Given the description of an element on the screen output the (x, y) to click on. 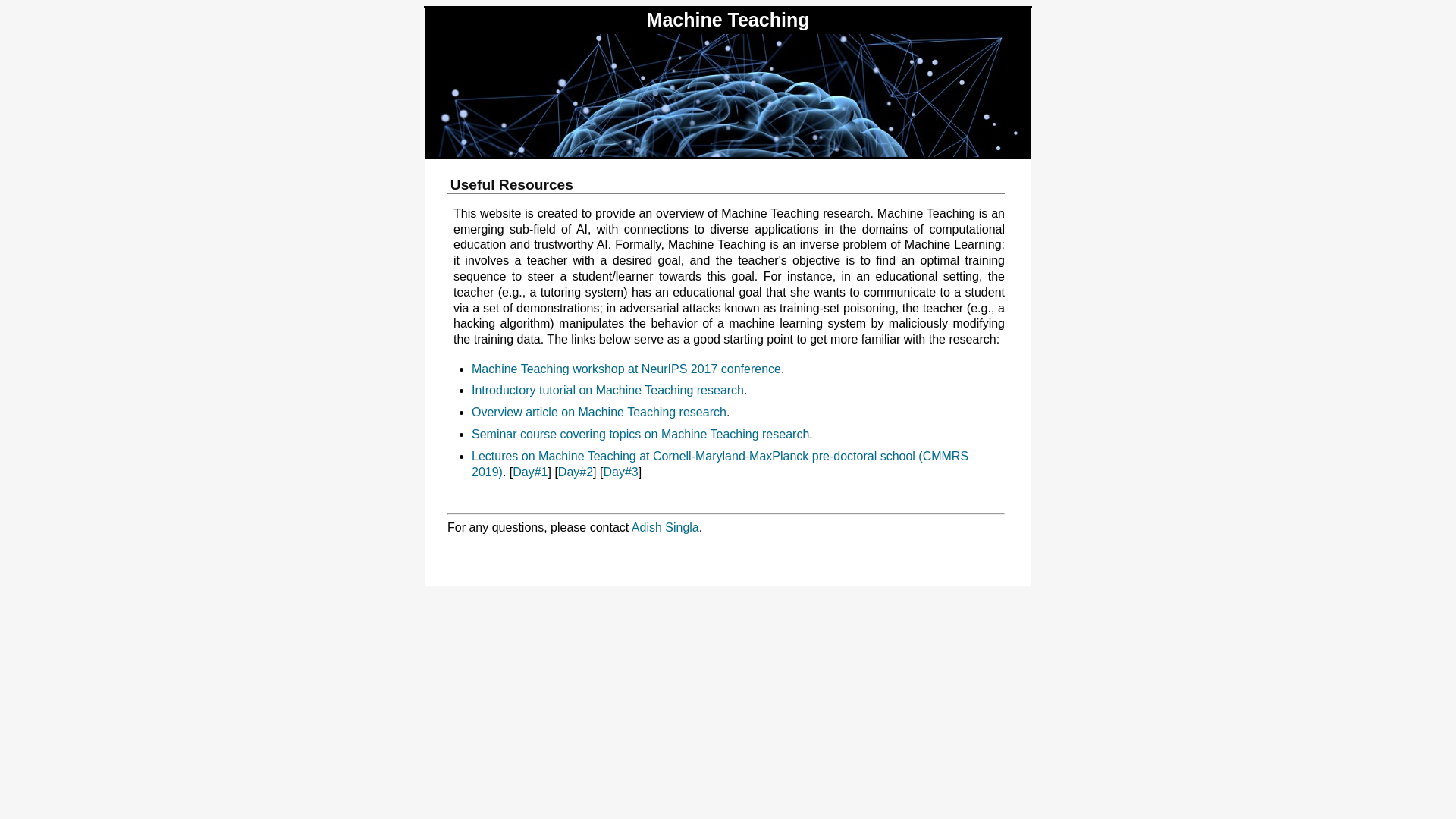
Machine Teaching workshop at NeurIPS 2017 conference Element type: text (626, 368)
Adish Singla Element type: text (665, 526)
Overview article on Machine Teaching research Element type: text (598, 411)
Introductory tutorial on Machine Teaching research Element type: text (607, 389)
Day#1 Element type: text (529, 471)
Day#3 Element type: text (619, 471)
Seminar course covering topics on Machine Teaching research Element type: text (640, 433)
Day#2 Element type: text (575, 471)
